Given the description of an element on the screen output the (x, y) to click on. 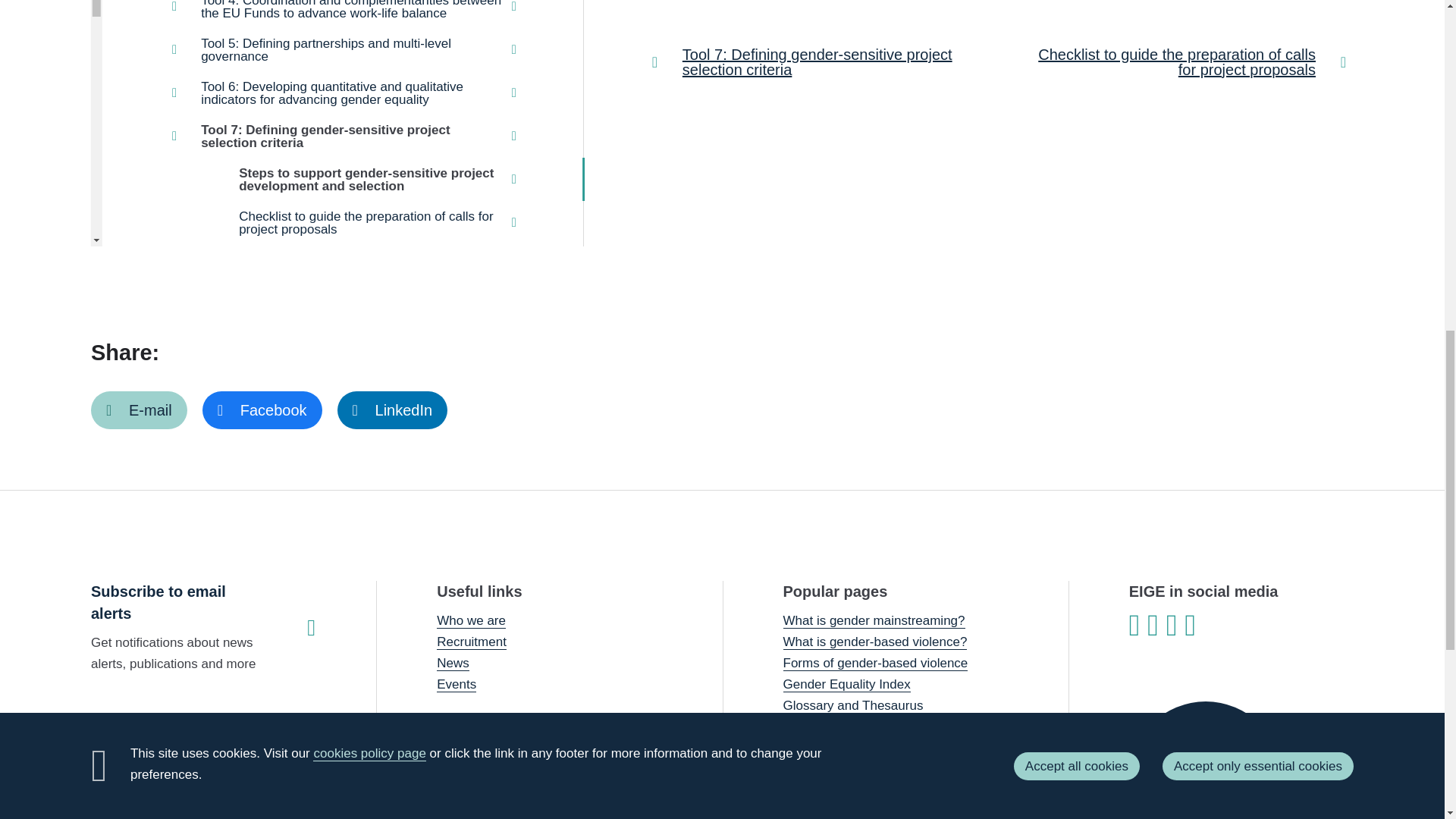
LinkedIn (392, 410)
Facebook (261, 410)
E-mail (138, 410)
